Given the description of an element on the screen output the (x, y) to click on. 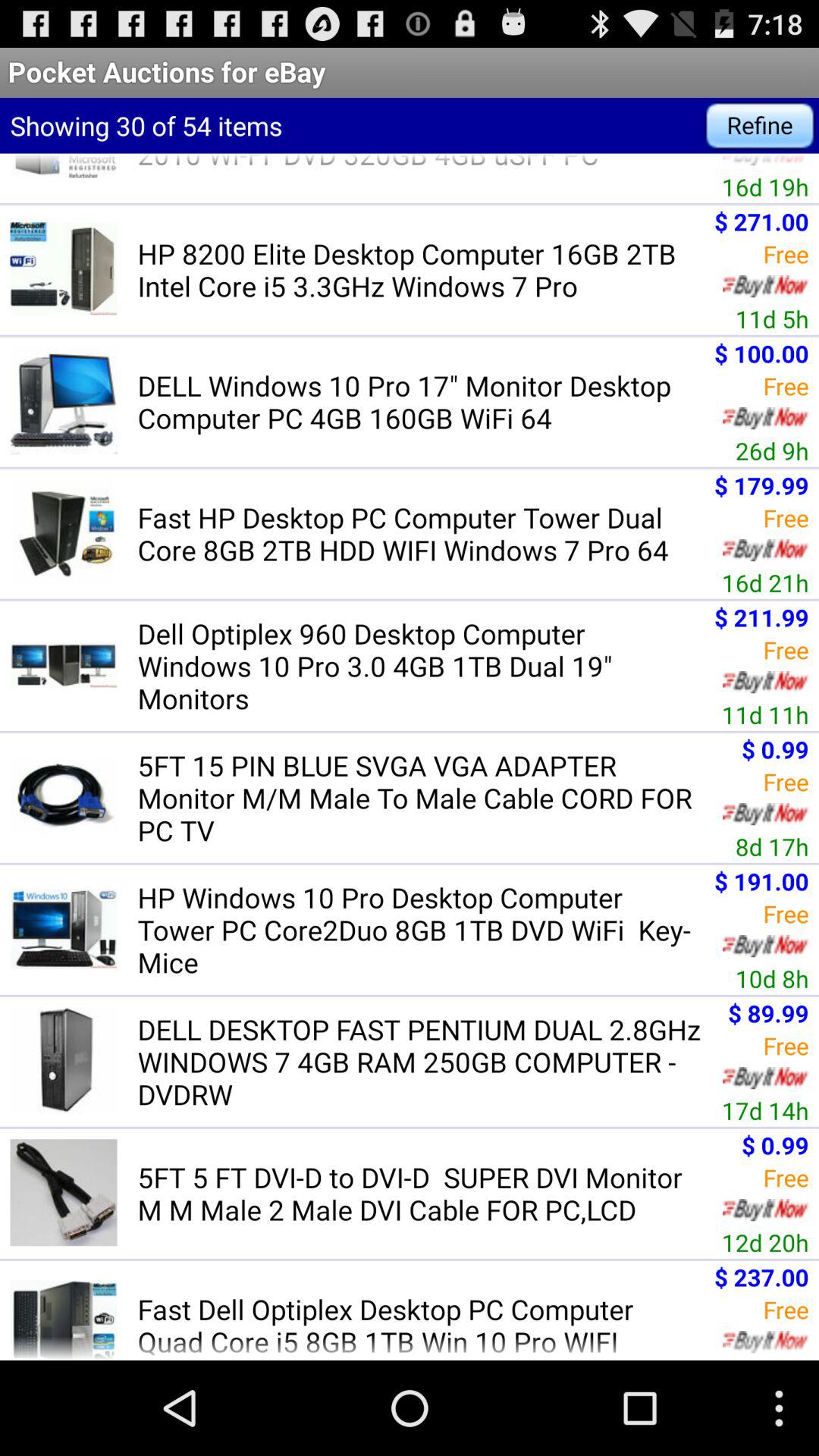
turn off item to the right of showing 30 of (759, 125)
